Given the description of an element on the screen output the (x, y) to click on. 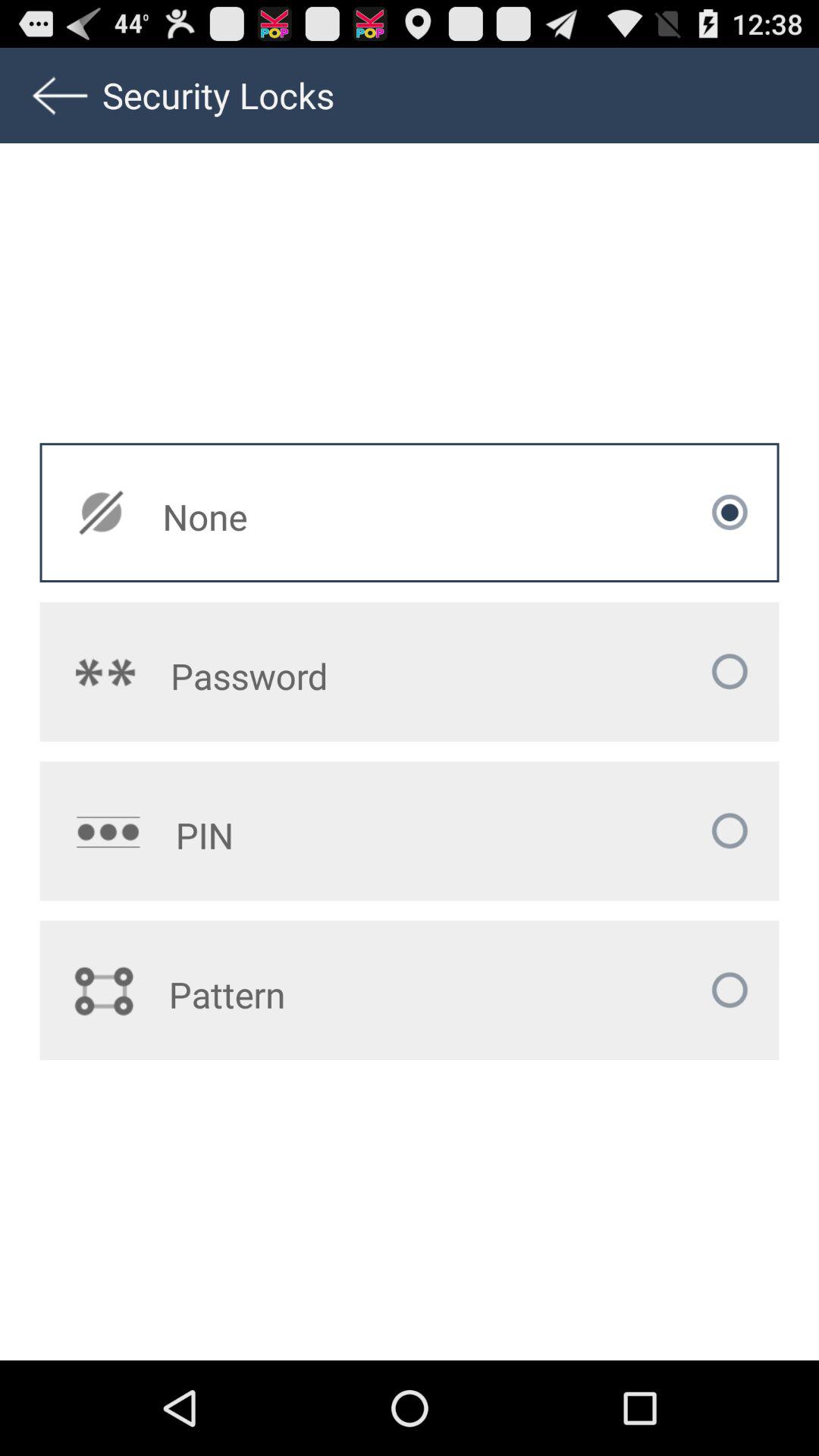
launch pattern at the bottom (317, 994)
